Given the description of an element on the screen output the (x, y) to click on. 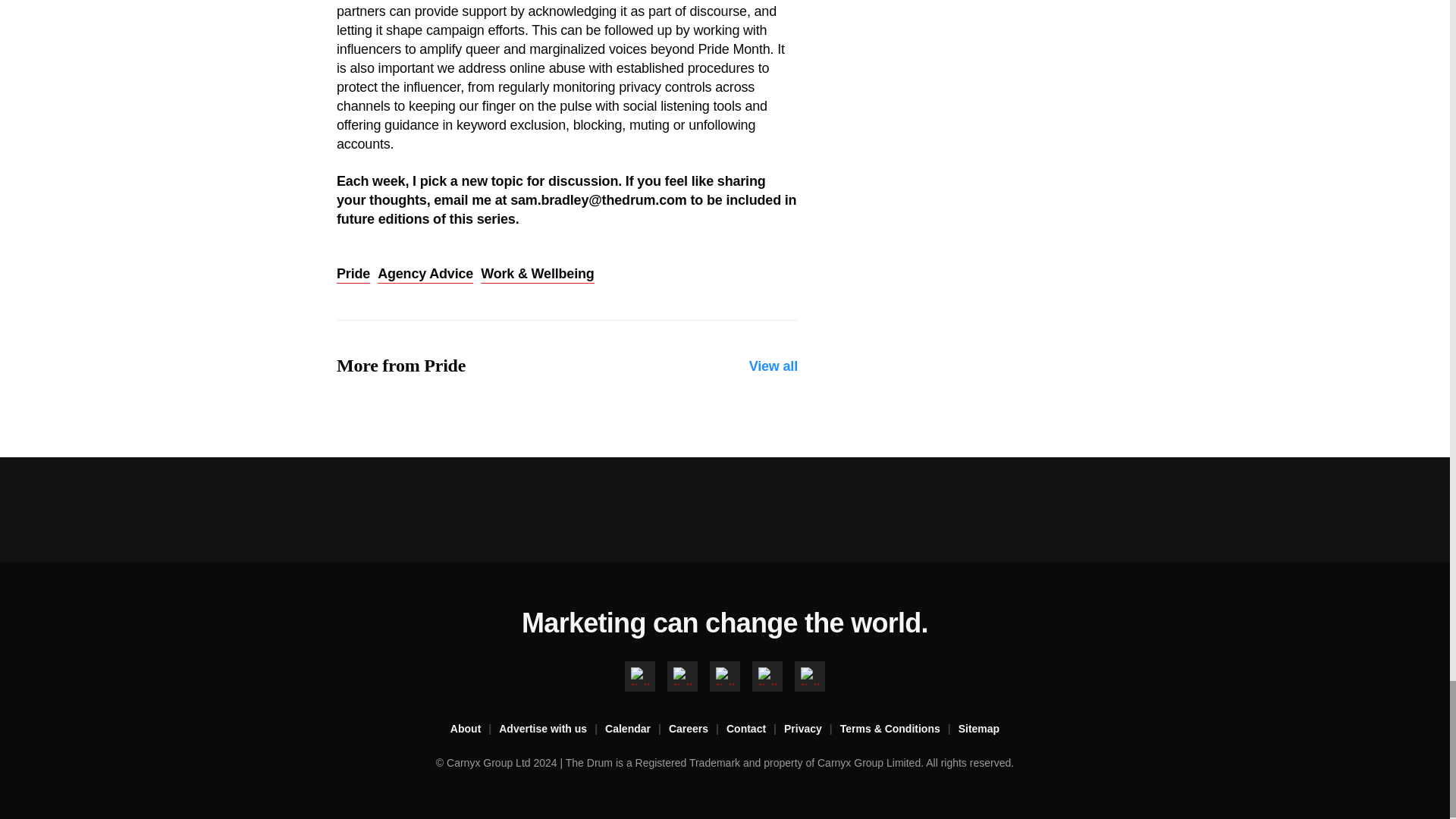
Contact (755, 729)
Pride (352, 274)
Careers (697, 729)
Agency Advice (425, 274)
View all (773, 366)
Advertise with us (552, 729)
Calendar (636, 729)
About (474, 729)
